Given the description of an element on the screen output the (x, y) to click on. 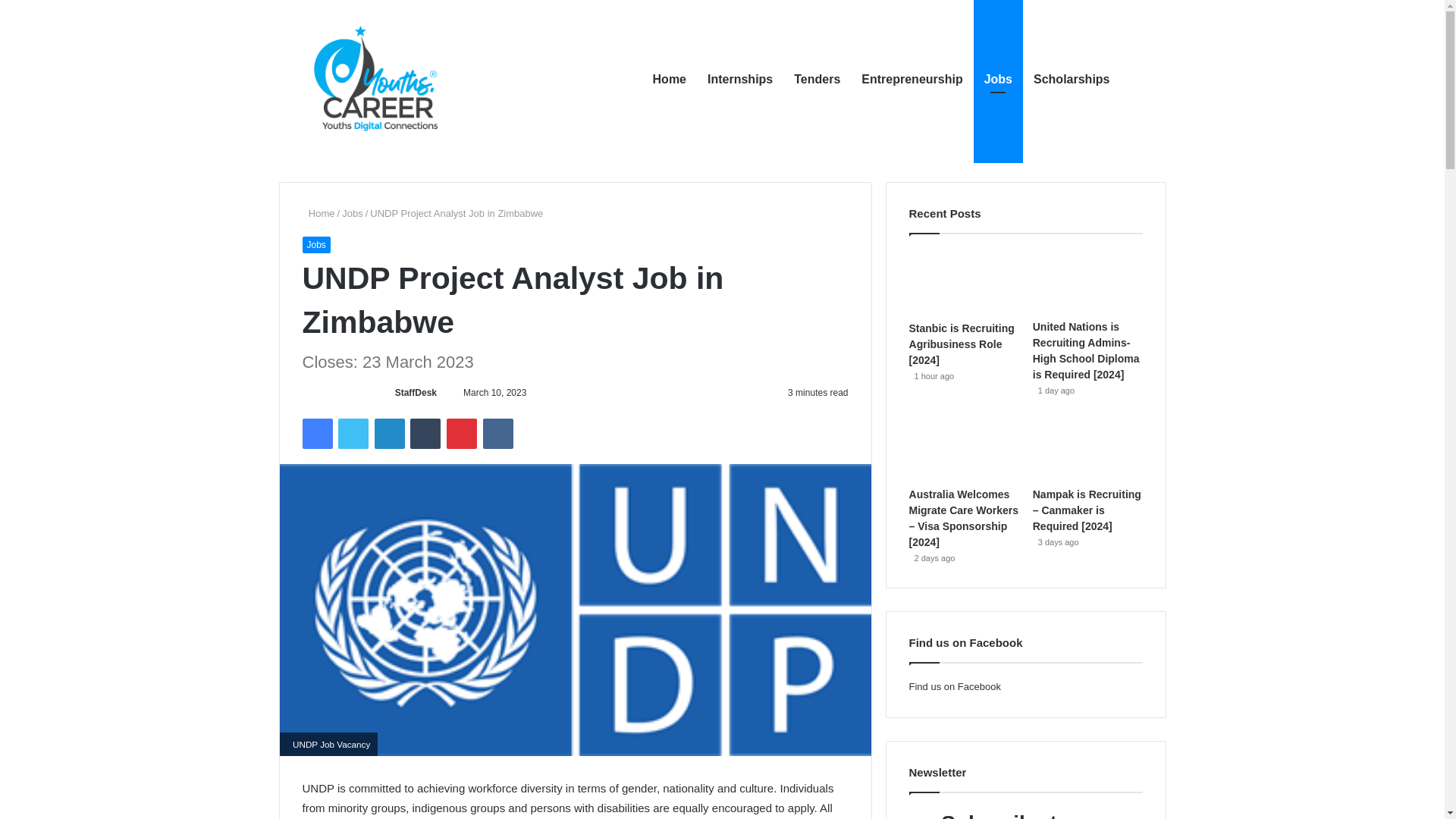
VKontakte (498, 433)
Youths Career (381, 79)
Facebook (316, 433)
StaffDesk (415, 392)
Pinterest (461, 433)
Jobs (352, 213)
LinkedIn (389, 433)
LinkedIn (389, 433)
Home (317, 213)
Pinterest (461, 433)
Twitter (352, 433)
VKontakte (498, 433)
Tumblr (425, 433)
Jobs (315, 244)
Facebook (316, 433)
